Given the description of an element on the screen output the (x, y) to click on. 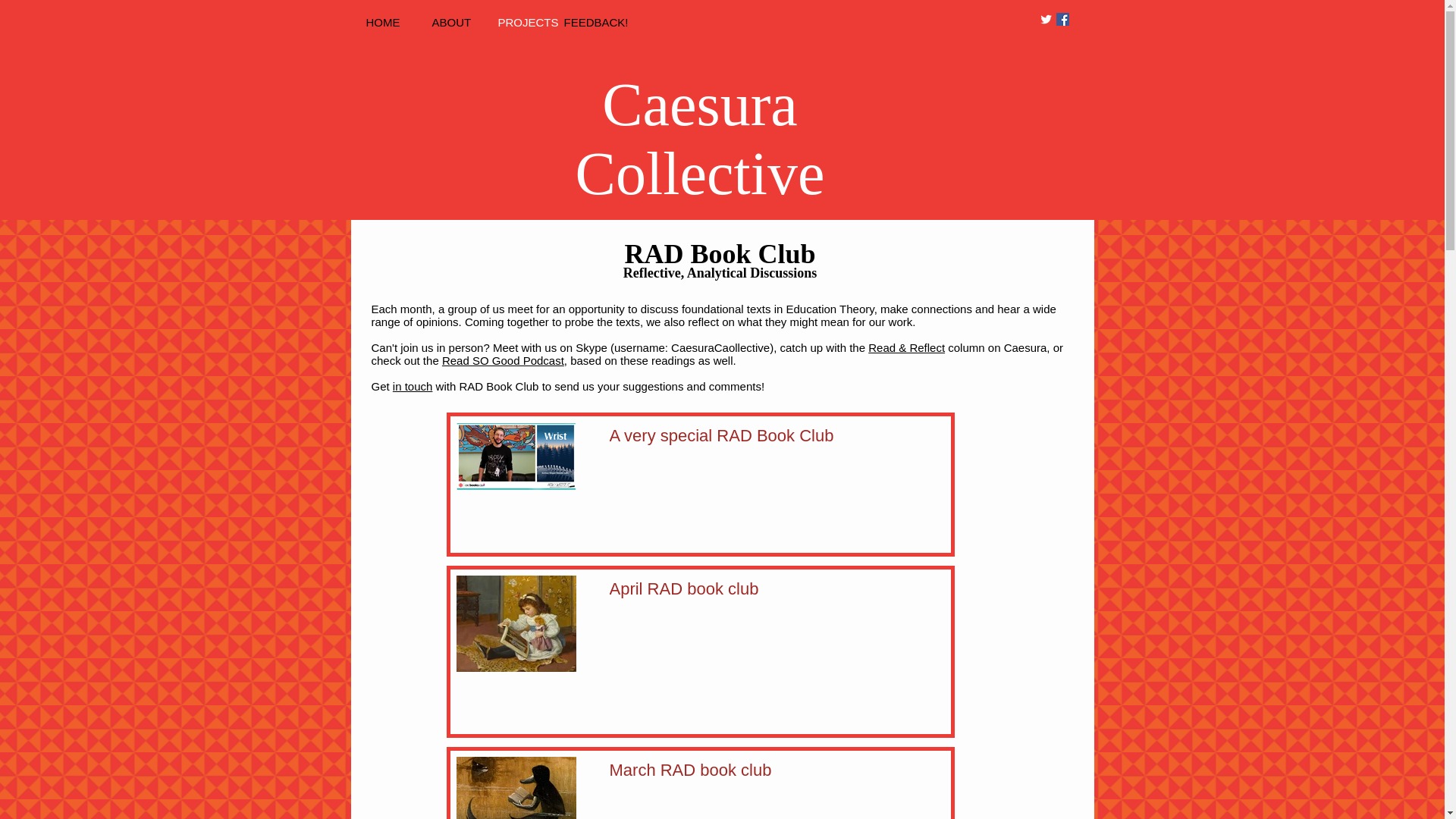
HOME (390, 22)
April RAD book club (762, 592)
March RAD book club (762, 773)
in touch (412, 386)
PROJECTS (522, 22)
A very special RAD Book Club (762, 438)
FEEDBACK! (589, 22)
ABOUT (457, 22)
Read SO Good Podcast (503, 359)
